Given the description of an element on the screen output the (x, y) to click on. 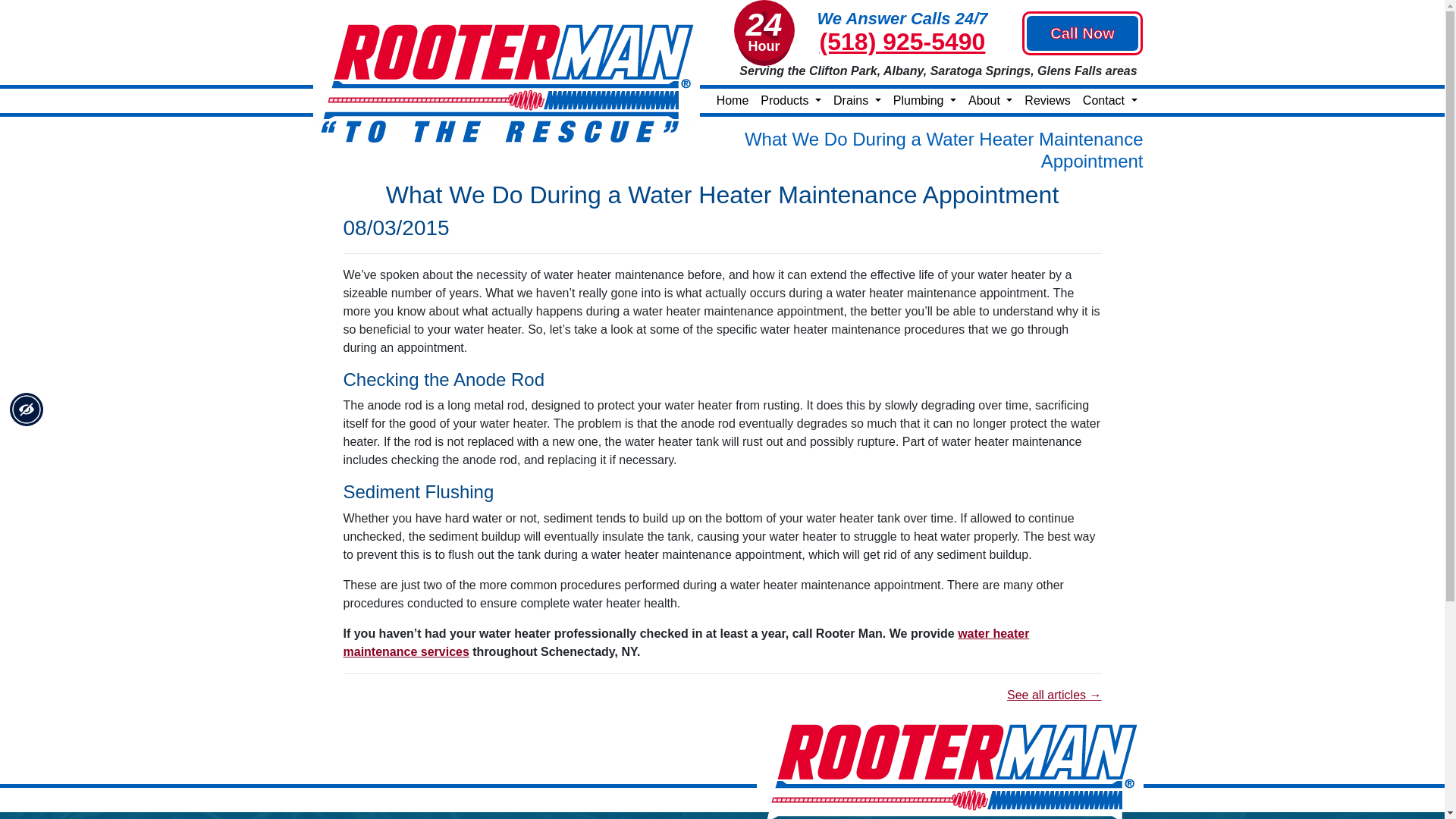
Plumbing (924, 100)
Products (790, 100)
Home (732, 100)
Call Now (1082, 32)
Drains (856, 100)
Accessibility Menu (26, 409)
